Given the description of an element on the screen output the (x, y) to click on. 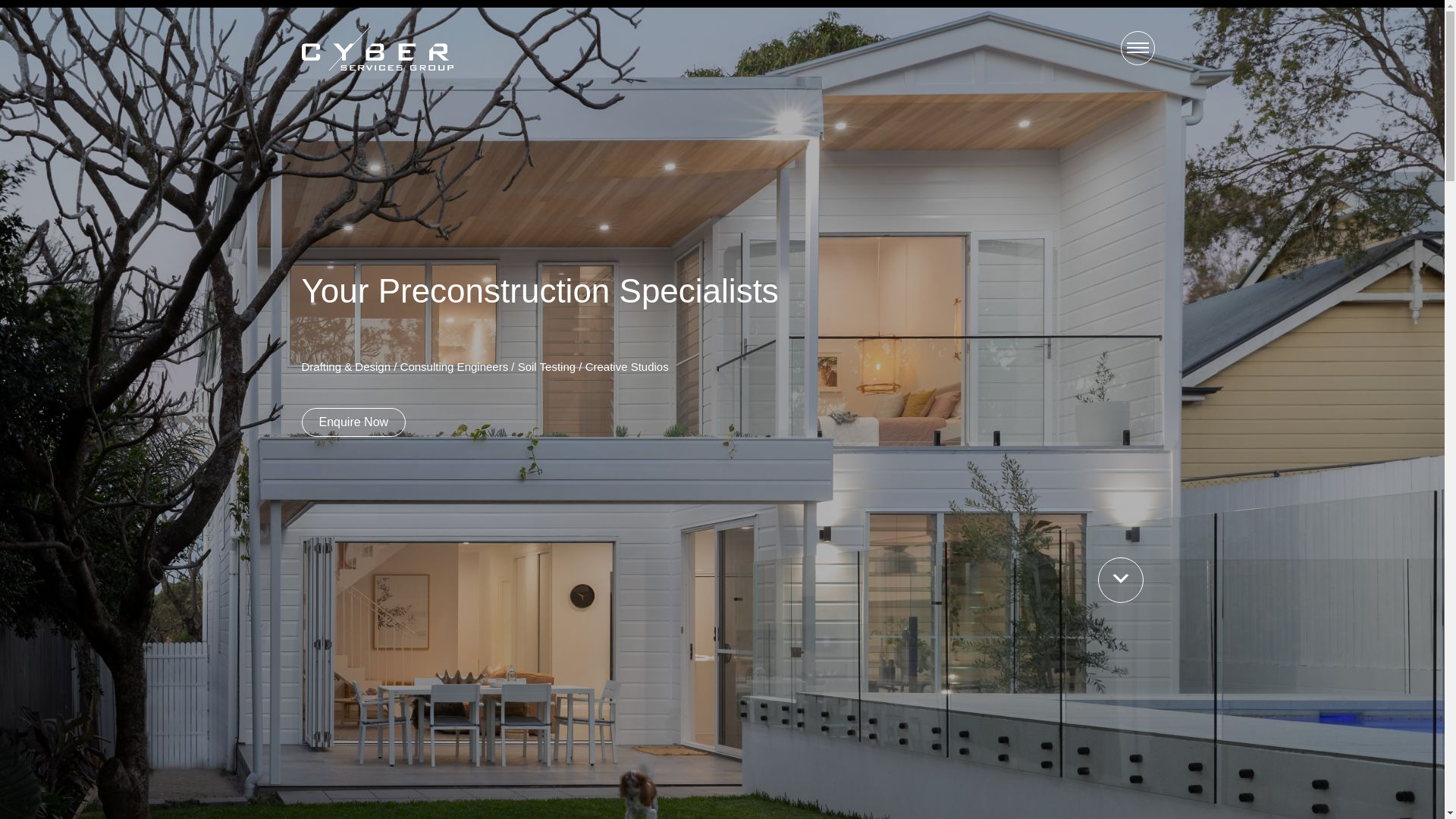
Enquire Now Element type: text (353, 421)
Soil Testing Element type: text (546, 366)
Consulting Engineers Element type: text (454, 366)
Drafting & Design Element type: text (346, 366)
Creative Studios Element type: text (626, 366)
